Given the description of an element on the screen output the (x, y) to click on. 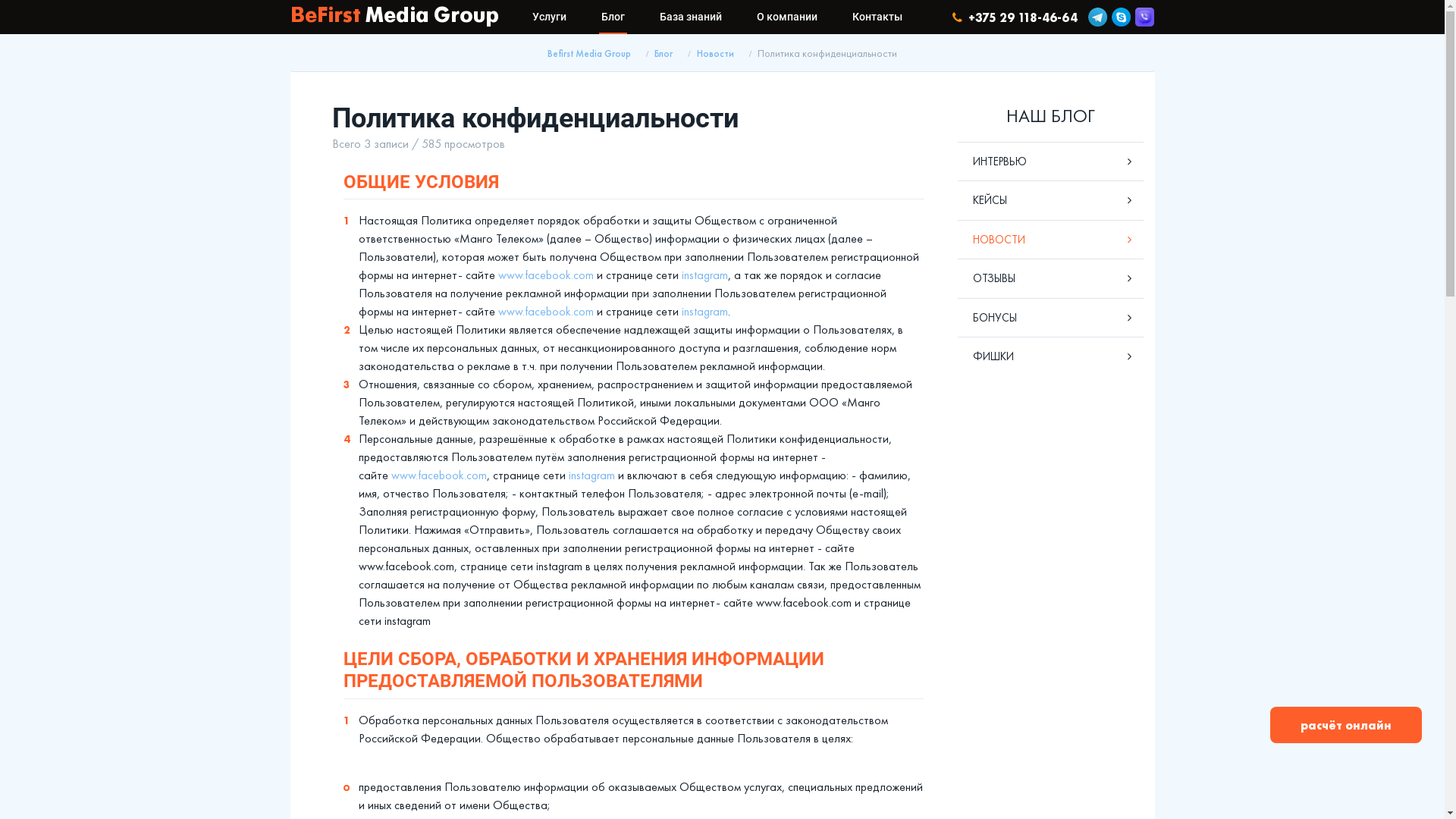
www.facebook.com Element type: text (438, 474)
instagram Element type: text (703, 274)
  +375 29 118-46-64 Element type: text (1014, 16)
www.facebook.com Element type: text (545, 311)
instagram Element type: text (703, 311)
instagram Element type: text (591, 474)
Befirst Media Group Element type: text (588, 53)
BeFirst Media Group Element type: text (393, 16)
www.facebook.com Element type: text (545, 274)
